Given the description of an element on the screen output the (x, y) to click on. 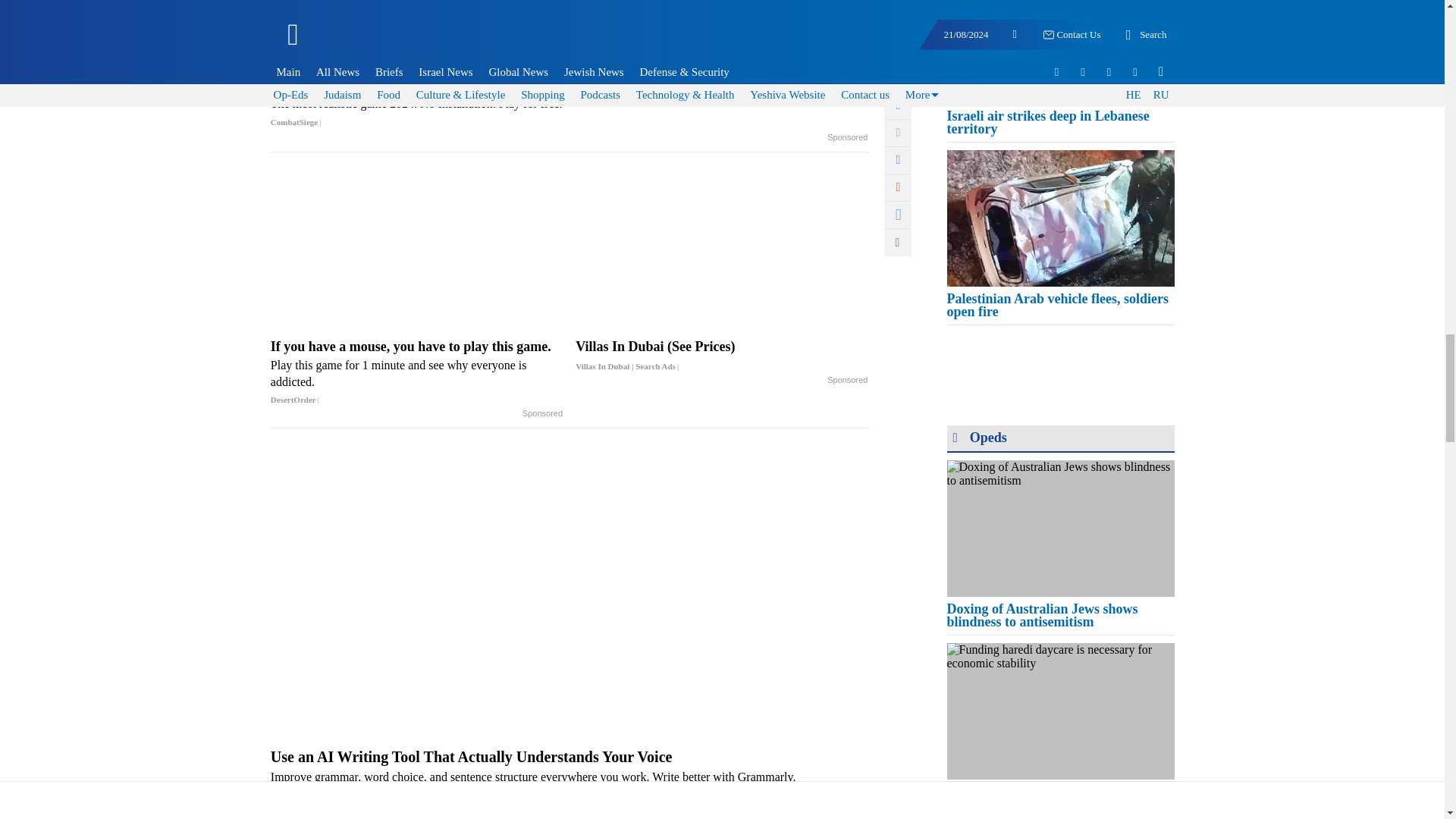
Use an AI Writing Tool That Actually Understands Your Voice (569, 780)
If you own a mouse, play it for 1 minute. (569, 102)
